Given the description of an element on the screen output the (x, y) to click on. 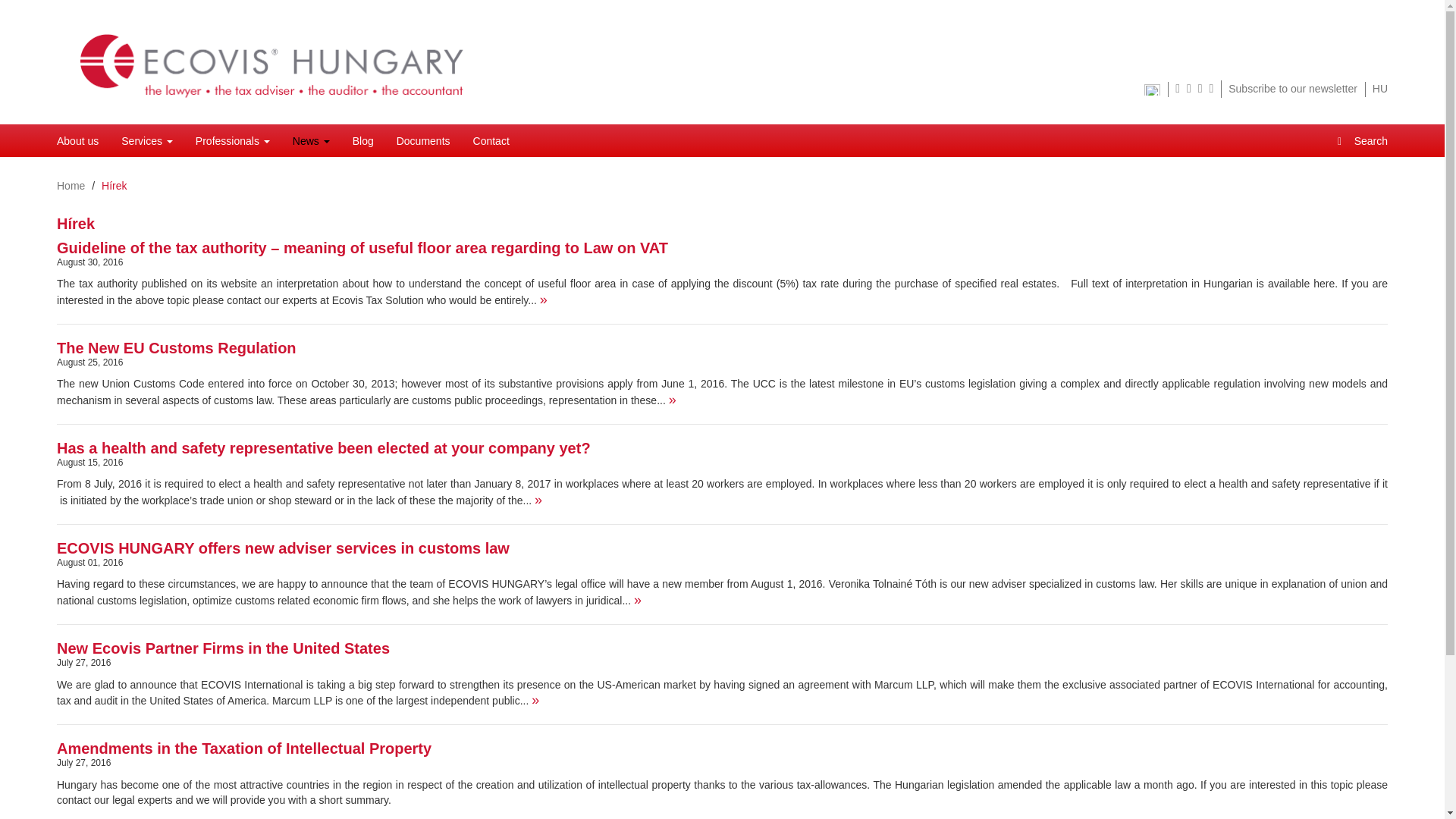
The New EU Customs Regulation (176, 347)
Home (70, 185)
News (310, 140)
Subscribe to our newsletter (1292, 88)
Professionals (232, 140)
Blog (362, 140)
Documents (423, 140)
Enter the terms you wish to search for. (1366, 140)
Services (147, 140)
Contact (491, 140)
